Given the description of an element on the screen output the (x, y) to click on. 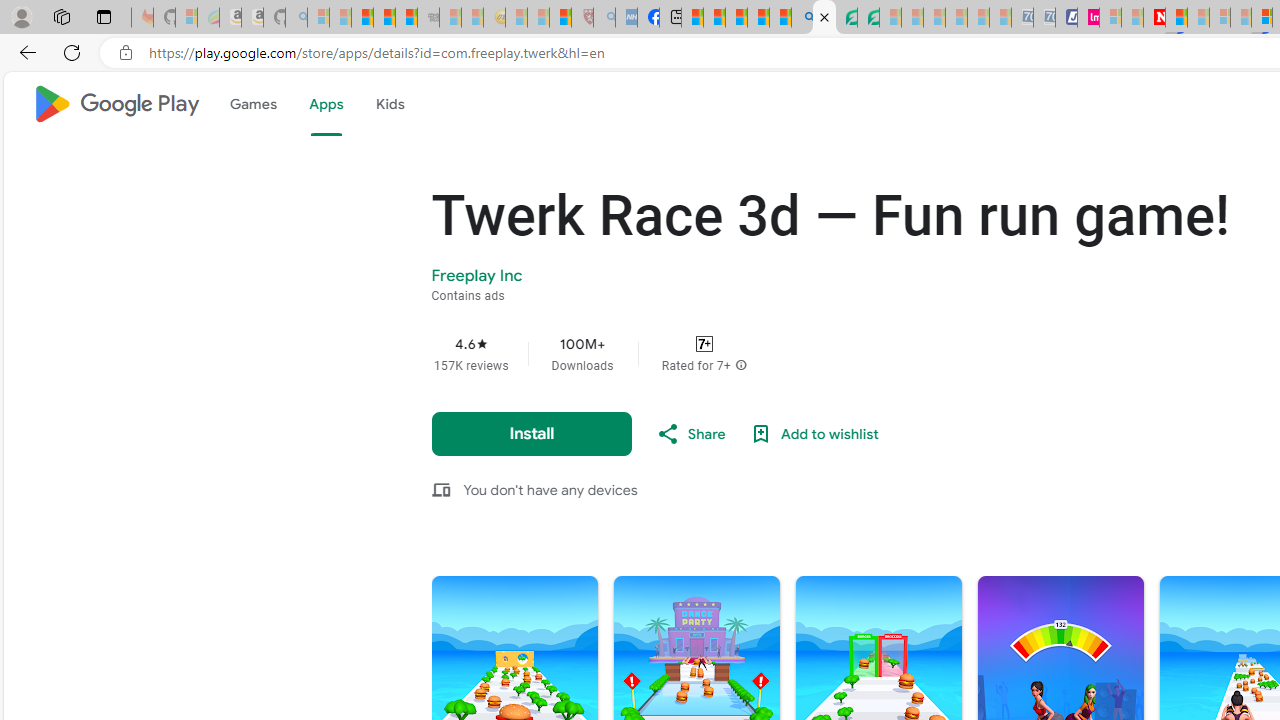
You don't have any devices (550, 489)
Install (531, 433)
Apps (325, 104)
